Given the description of an element on the screen output the (x, y) to click on. 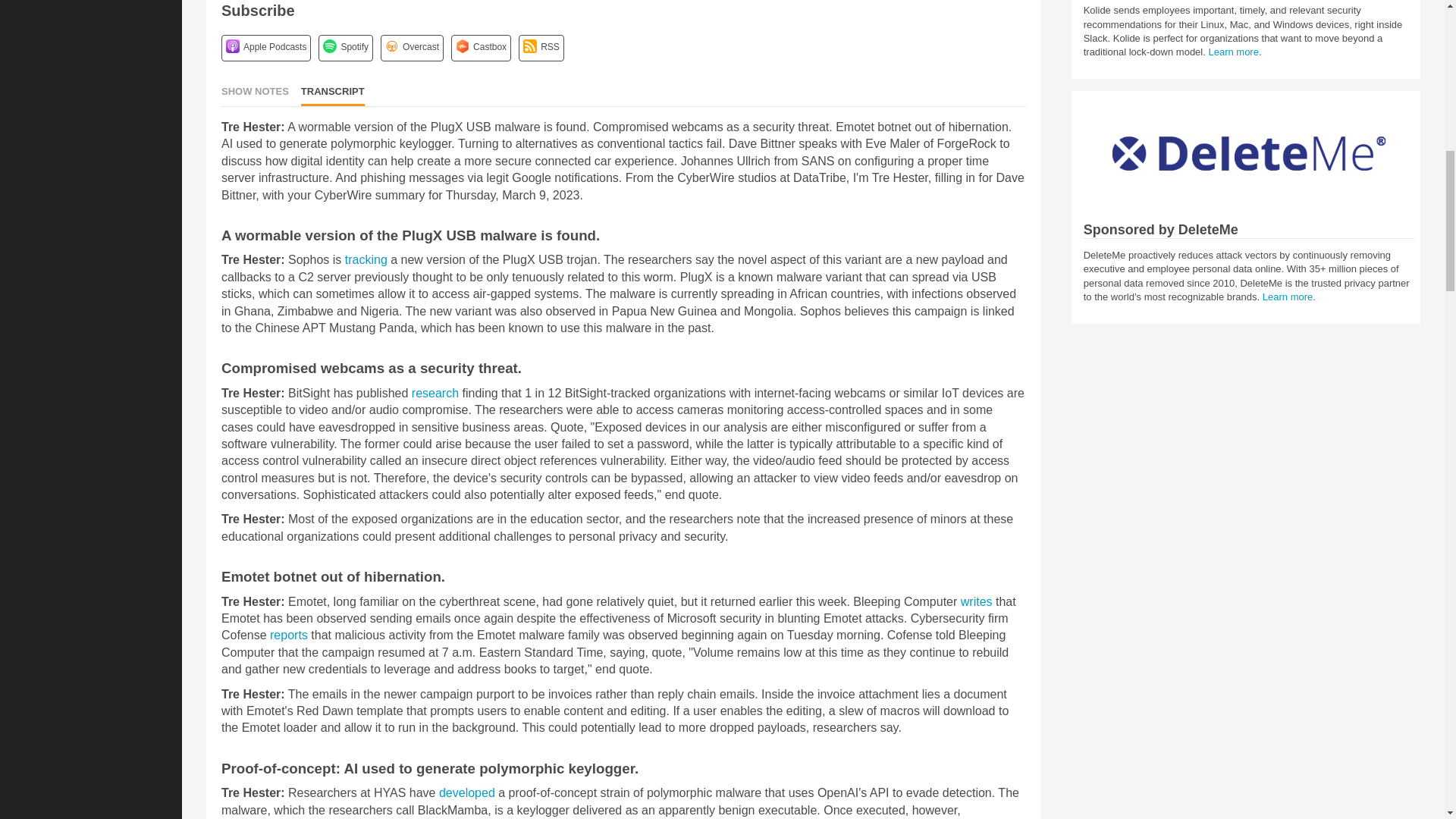
Apple Podcasts (232, 46)
Overcast (391, 46)
RSS (529, 46)
Spotify (329, 46)
Castbox (461, 46)
